Given the description of an element on the screen output the (x, y) to click on. 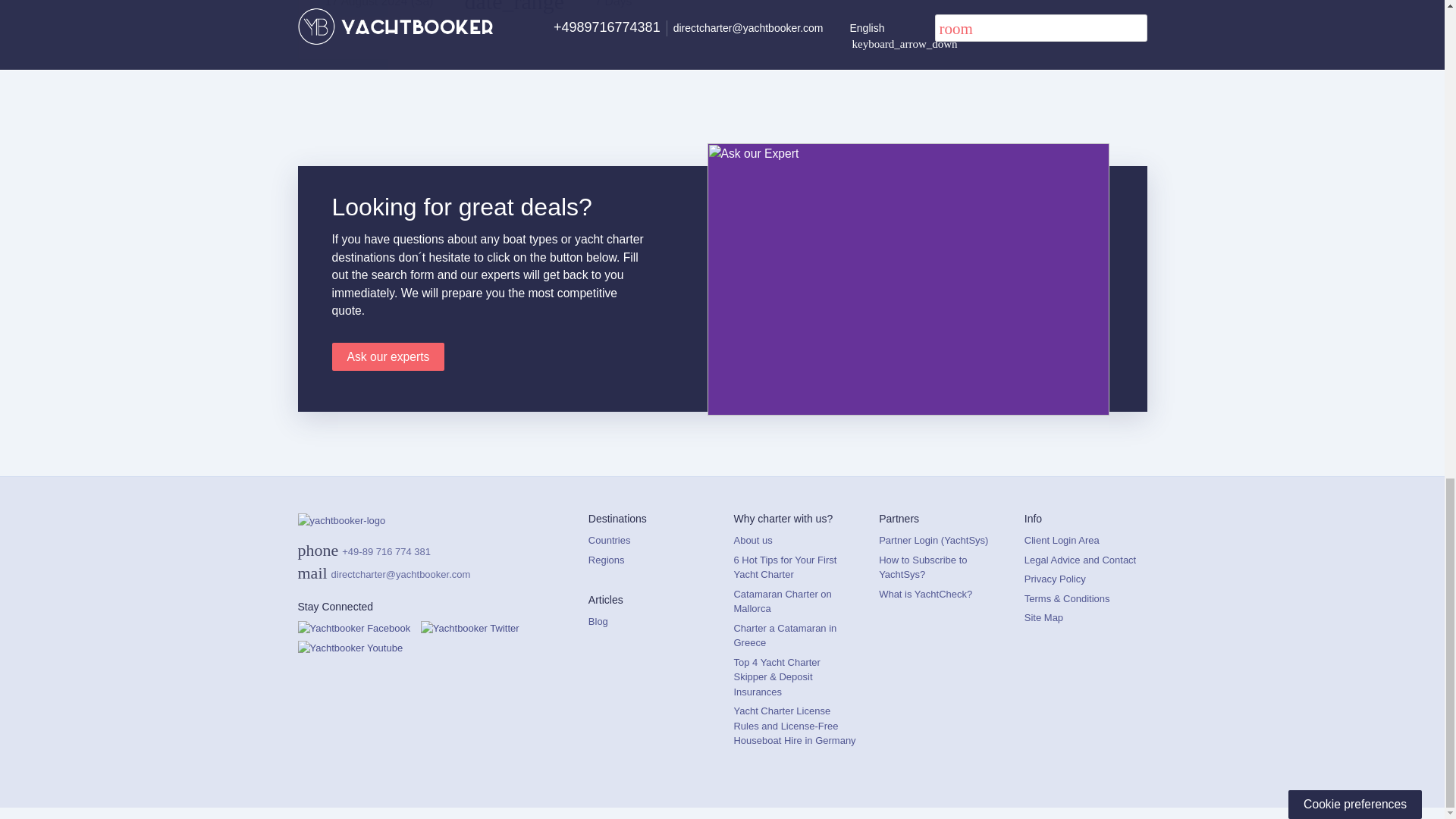
Ask our experts (388, 357)
